Given the description of an element on the screen output the (x, y) to click on. 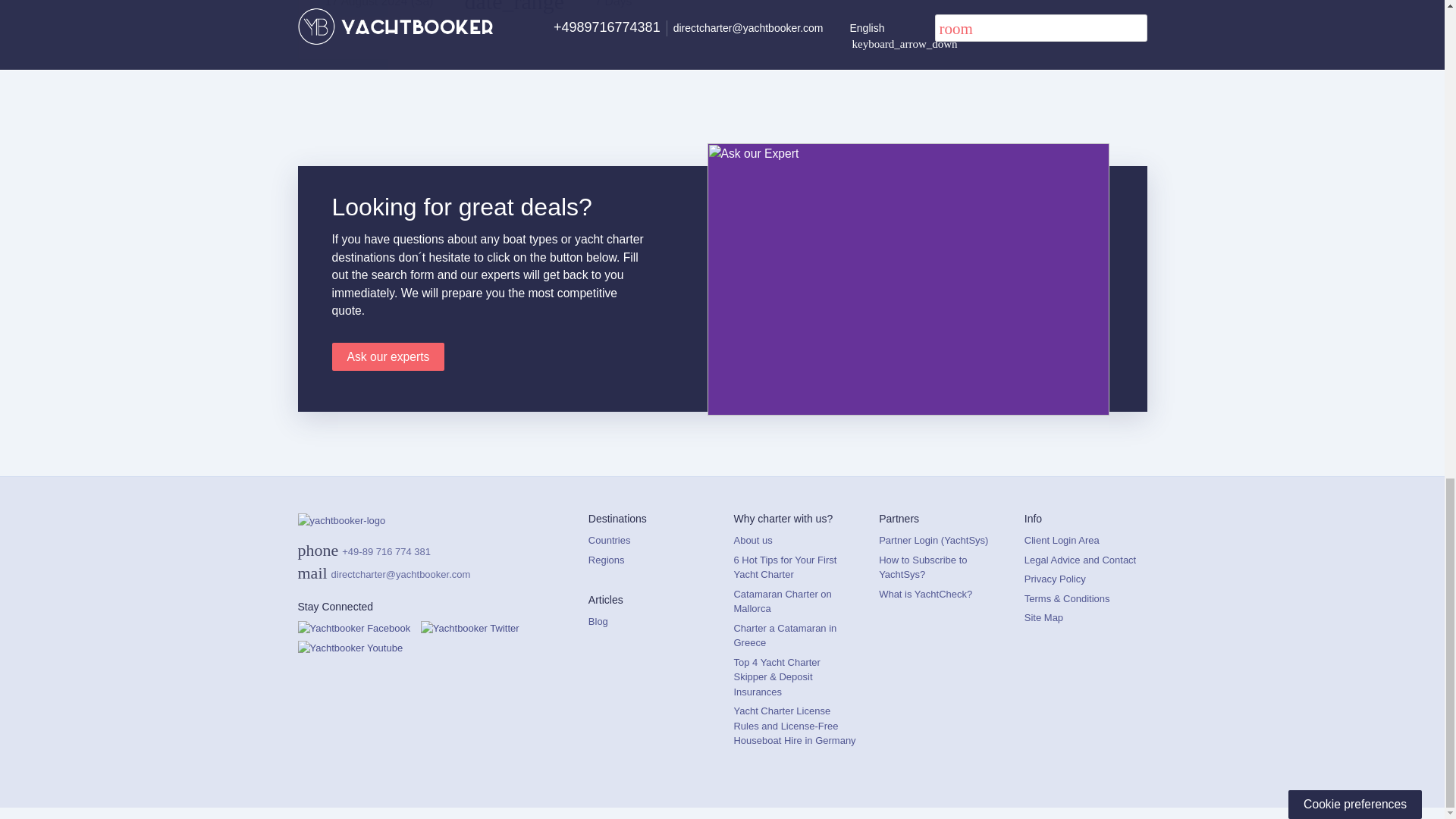
Ask our experts (388, 357)
